Given the description of an element on the screen output the (x, y) to click on. 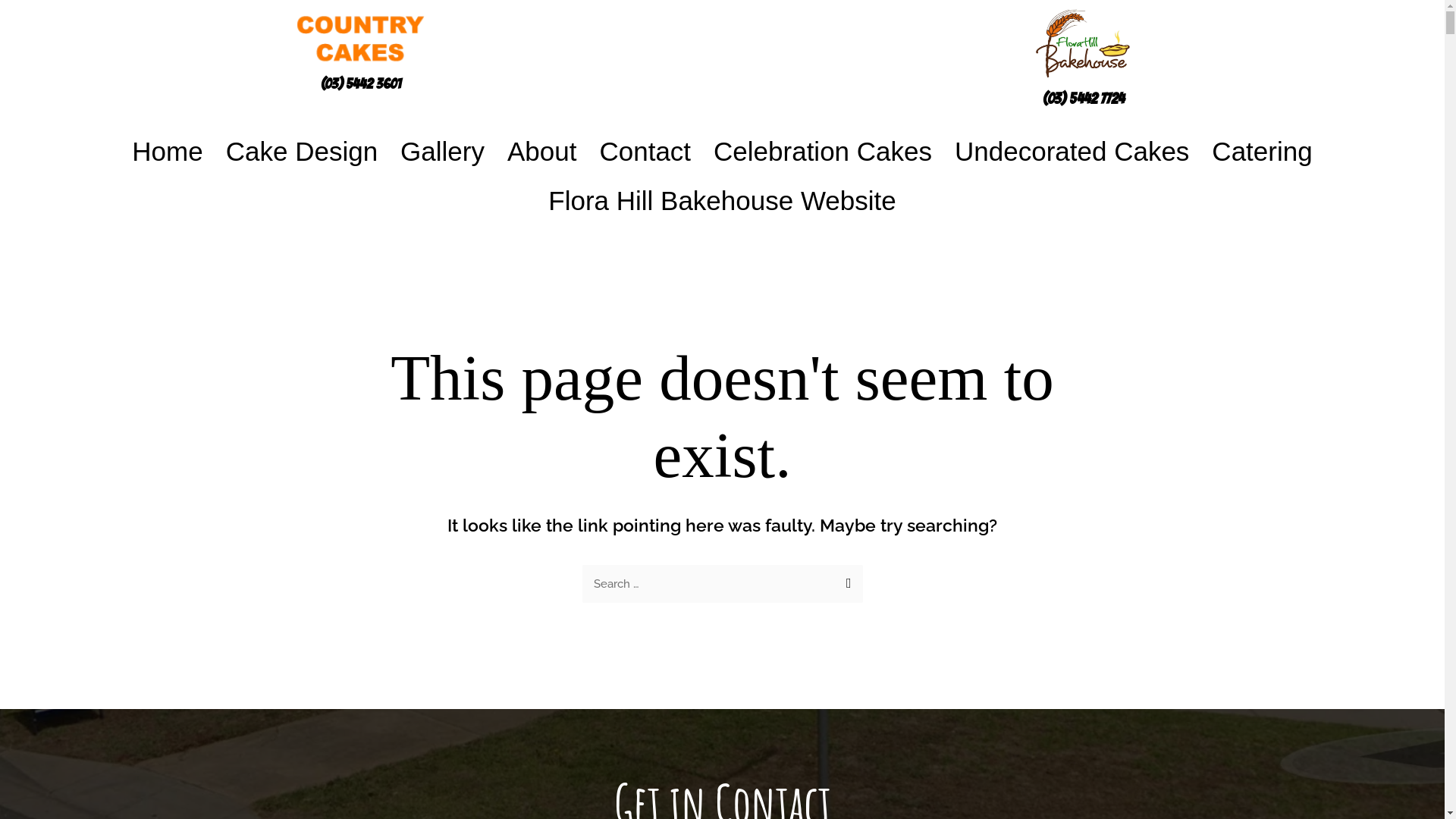
Gallery Element type: text (442, 150)
(03) 5442 3601 Element type: text (360, 83)
Catering Element type: text (1261, 150)
(03) 5442 7724 Element type: text (1083, 98)
Search Element type: text (845, 579)
Celebration Cakes Element type: text (822, 150)
About Element type: text (541, 150)
Contact Element type: text (644, 150)
Flora Hill Bakehouse Website Element type: text (721, 200)
Home Element type: text (166, 150)
Cake Design Element type: text (301, 150)
Undecorated Cakes Element type: text (1071, 150)
